Given the description of an element on the screen output the (x, y) to click on. 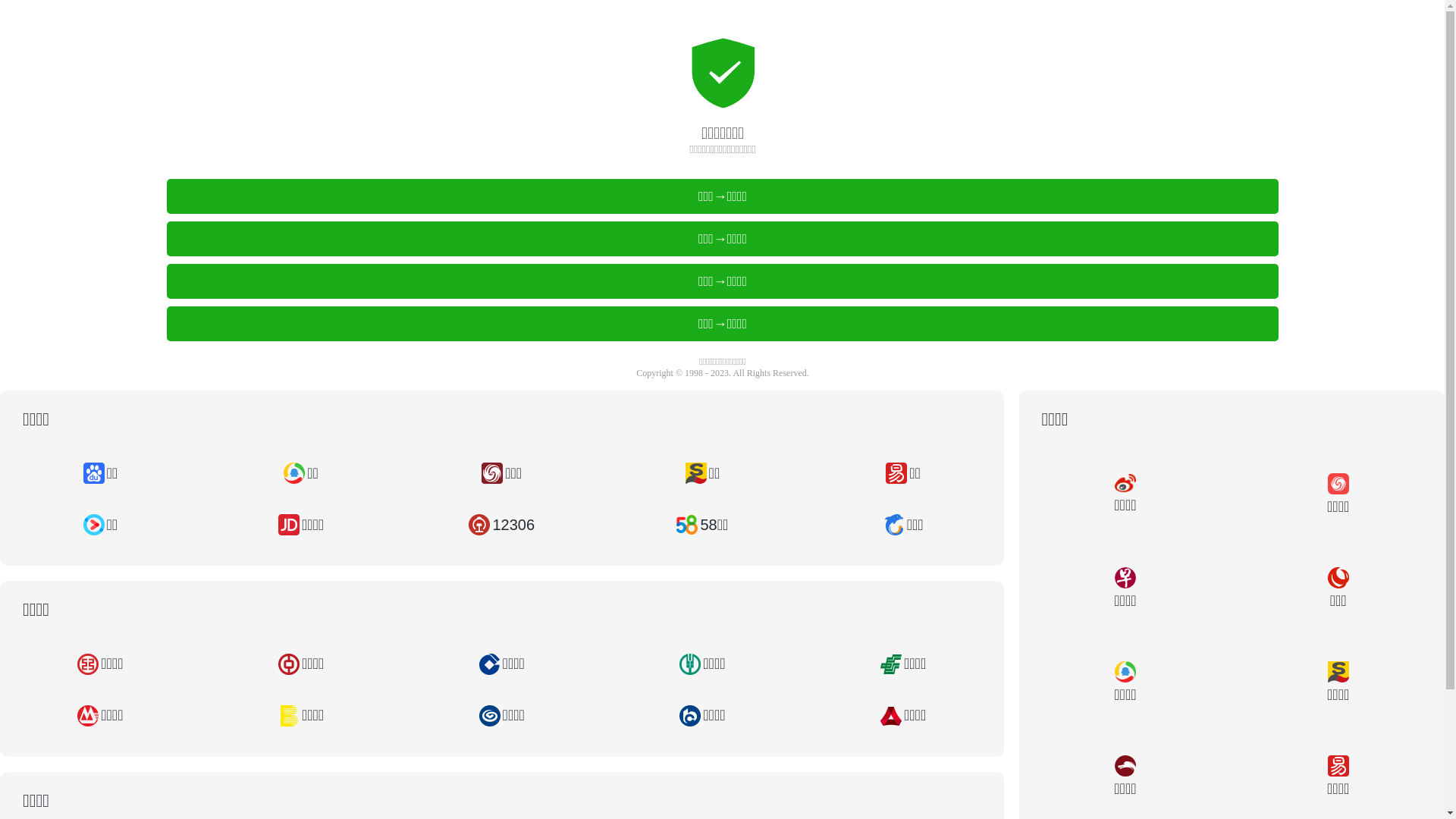
12306 Element type: text (501, 524)
